Given the description of an element on the screen output the (x, y) to click on. 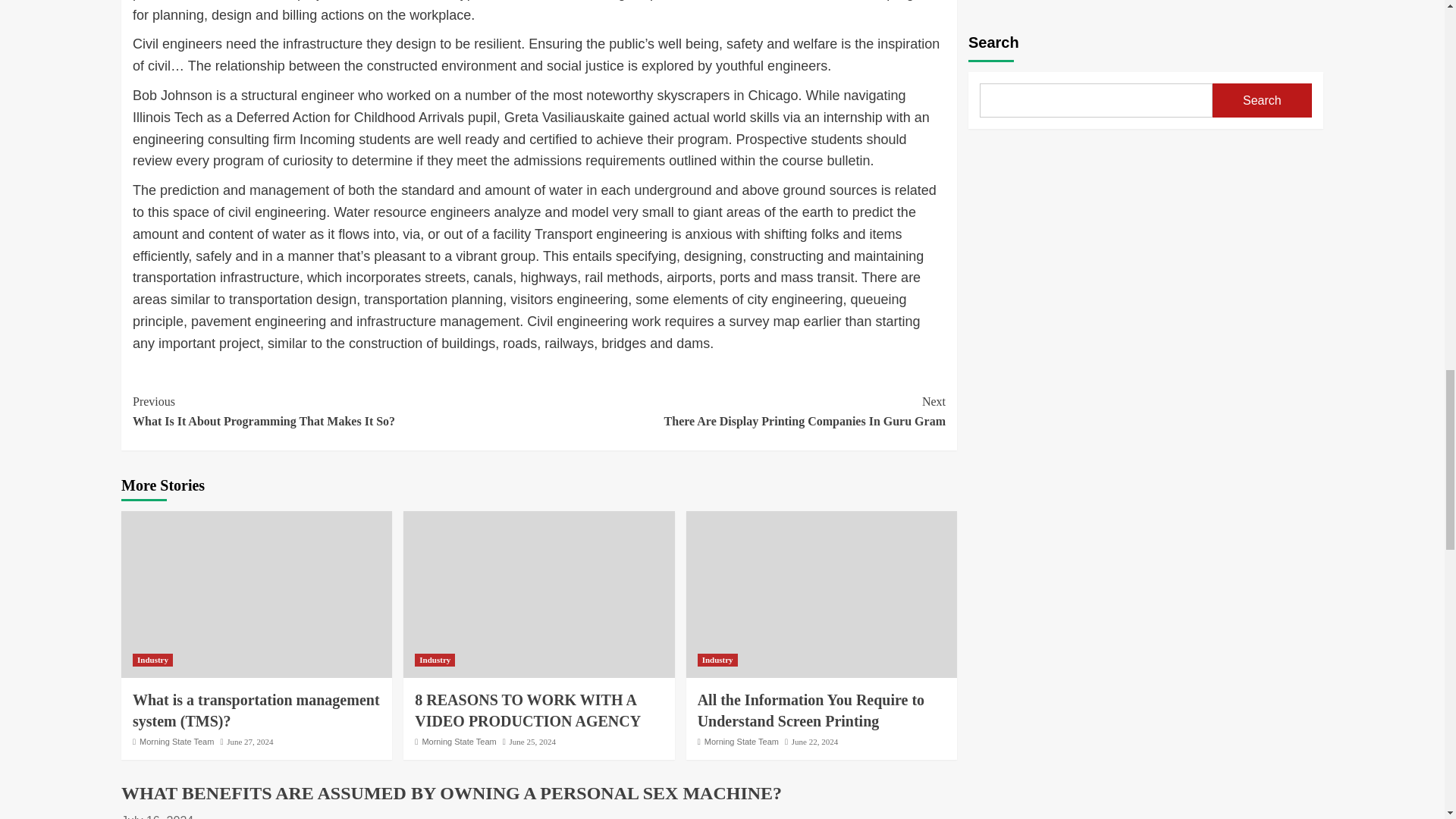
June 22, 2024 (815, 741)
WHAT BENEFITS ARE ASSUMED BY OWNING A PERSONAL SEX MACHINE? (450, 792)
Morning State Team (741, 741)
Morning State Team (741, 411)
June 27, 2024 (176, 741)
Industry (335, 411)
June 25, 2024 (250, 741)
Morning State Team (717, 659)
Industry (532, 741)
8 REASONS TO WORK WITH A VIDEO PRODUCTION AGENCY (459, 741)
Industry (434, 659)
